Given the description of an element on the screen output the (x, y) to click on. 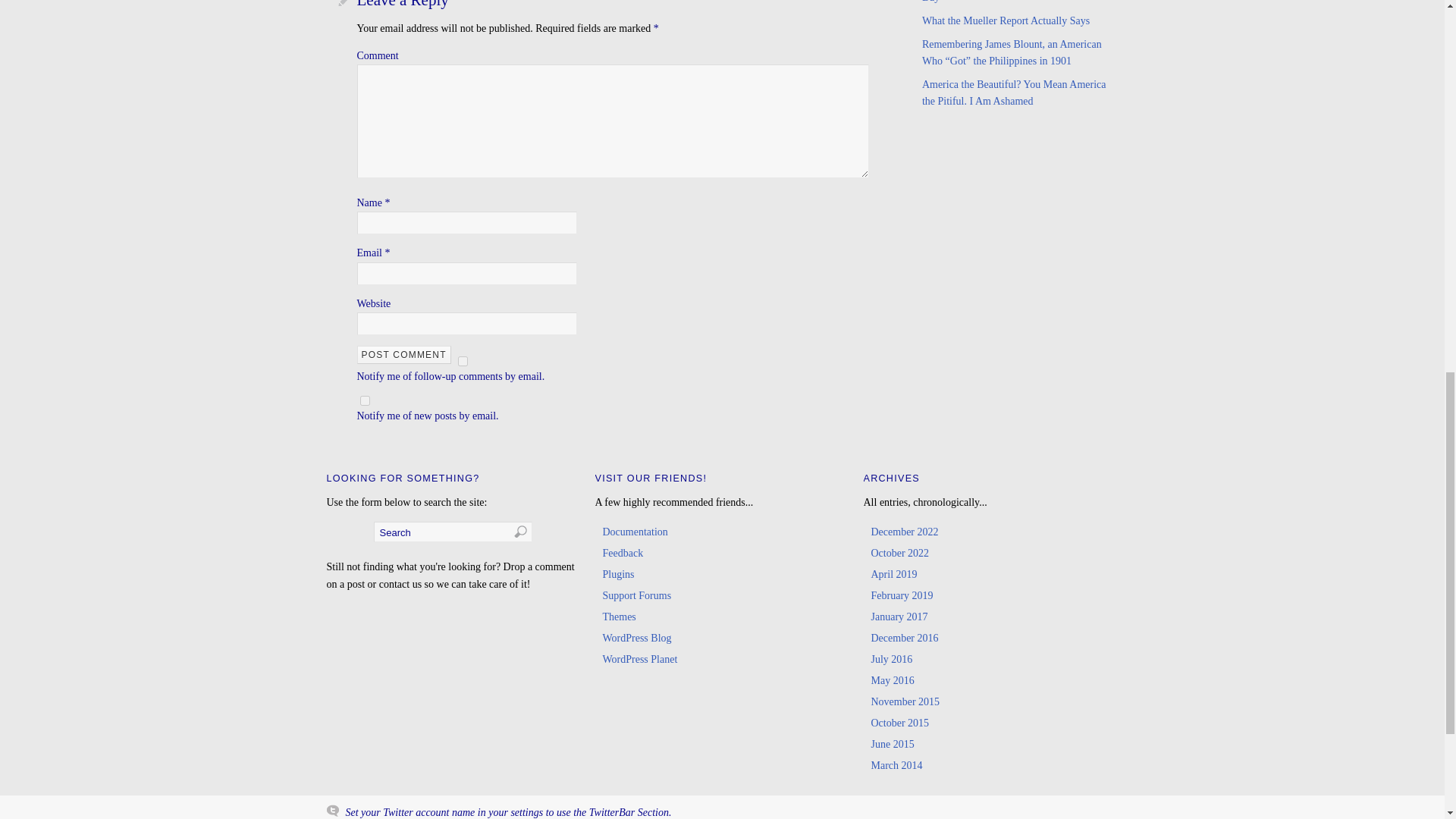
Search (451, 531)
Post Comment (402, 354)
Post Comment (402, 354)
subscribe (364, 400)
subscribe (462, 361)
Search (451, 531)
